Given the description of an element on the screen output the (x, y) to click on. 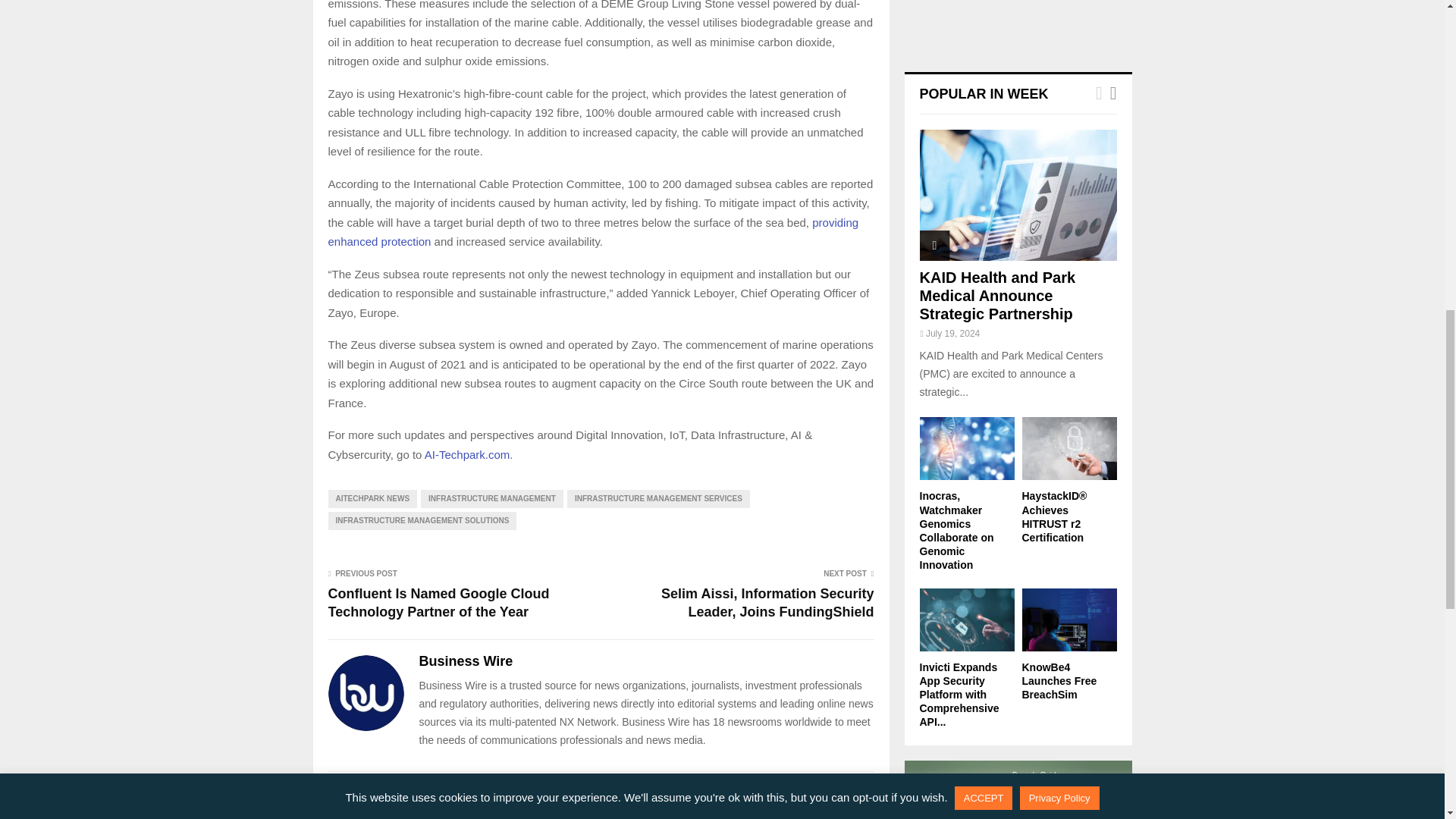
Posts by Business Wire (465, 661)
